Given the description of an element on the screen output the (x, y) to click on. 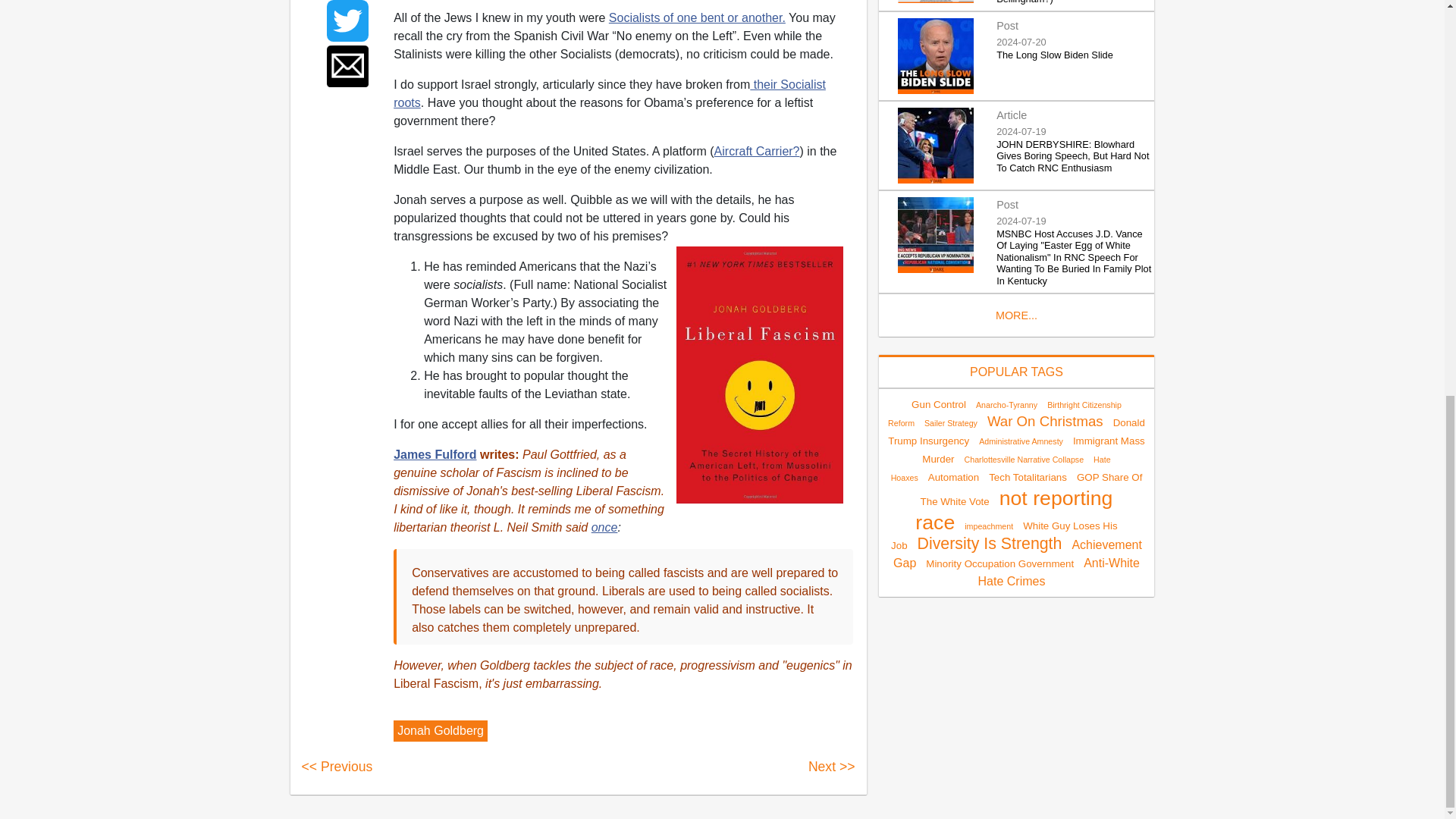
Share to Twitter (347, 20)
Share to Email (347, 65)
